Given the description of an element on the screen output the (x, y) to click on. 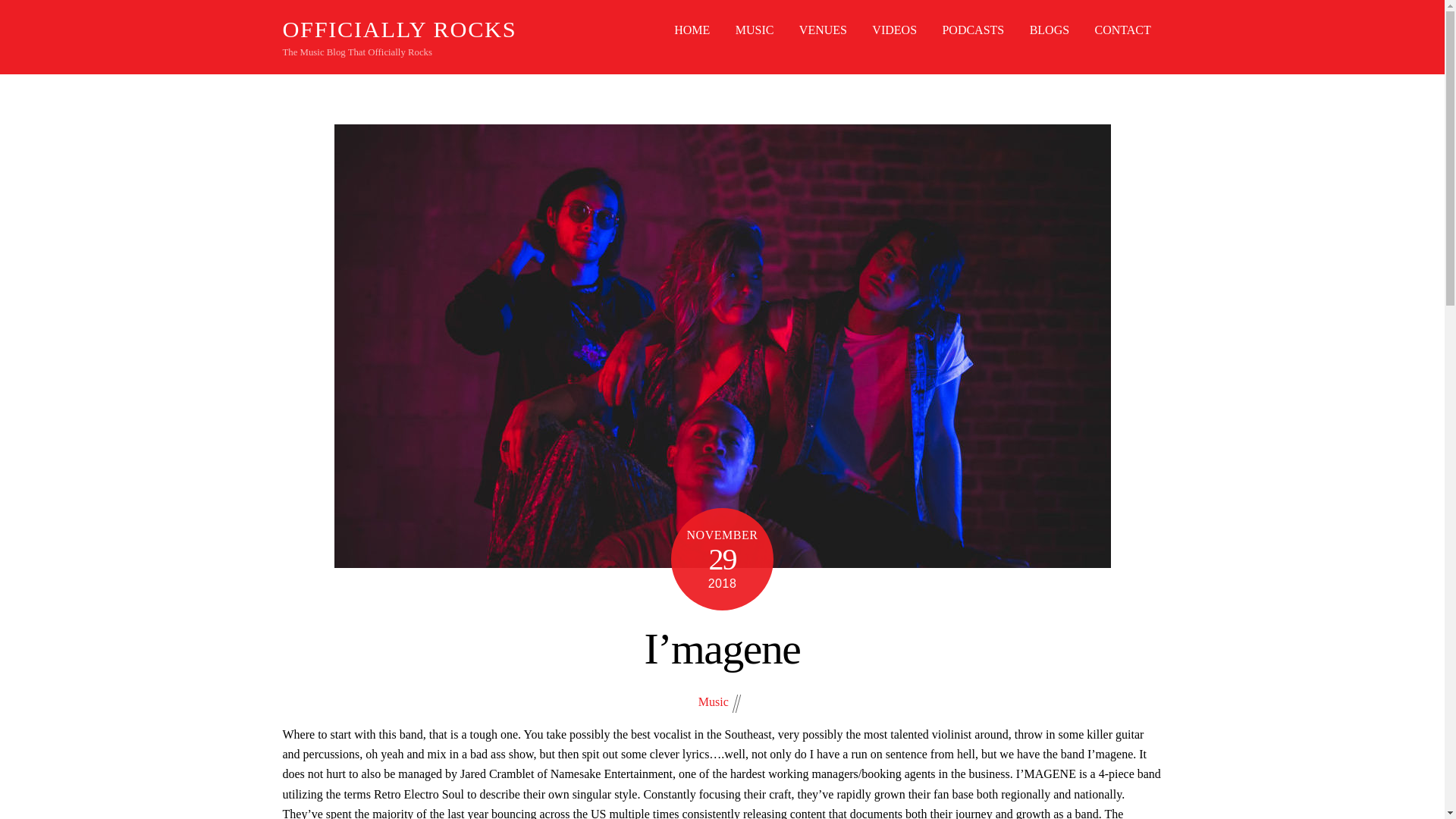
BLOGS (1048, 30)
VENUES (822, 30)
MUSIC (754, 30)
PODCASTS (973, 30)
Officially Rocks (399, 29)
HOME (691, 30)
VIDEOS (893, 30)
OFFICIALLY ROCKS (399, 29)
CONTACT (1123, 30)
Music (713, 701)
